Given the description of an element on the screen output the (x, y) to click on. 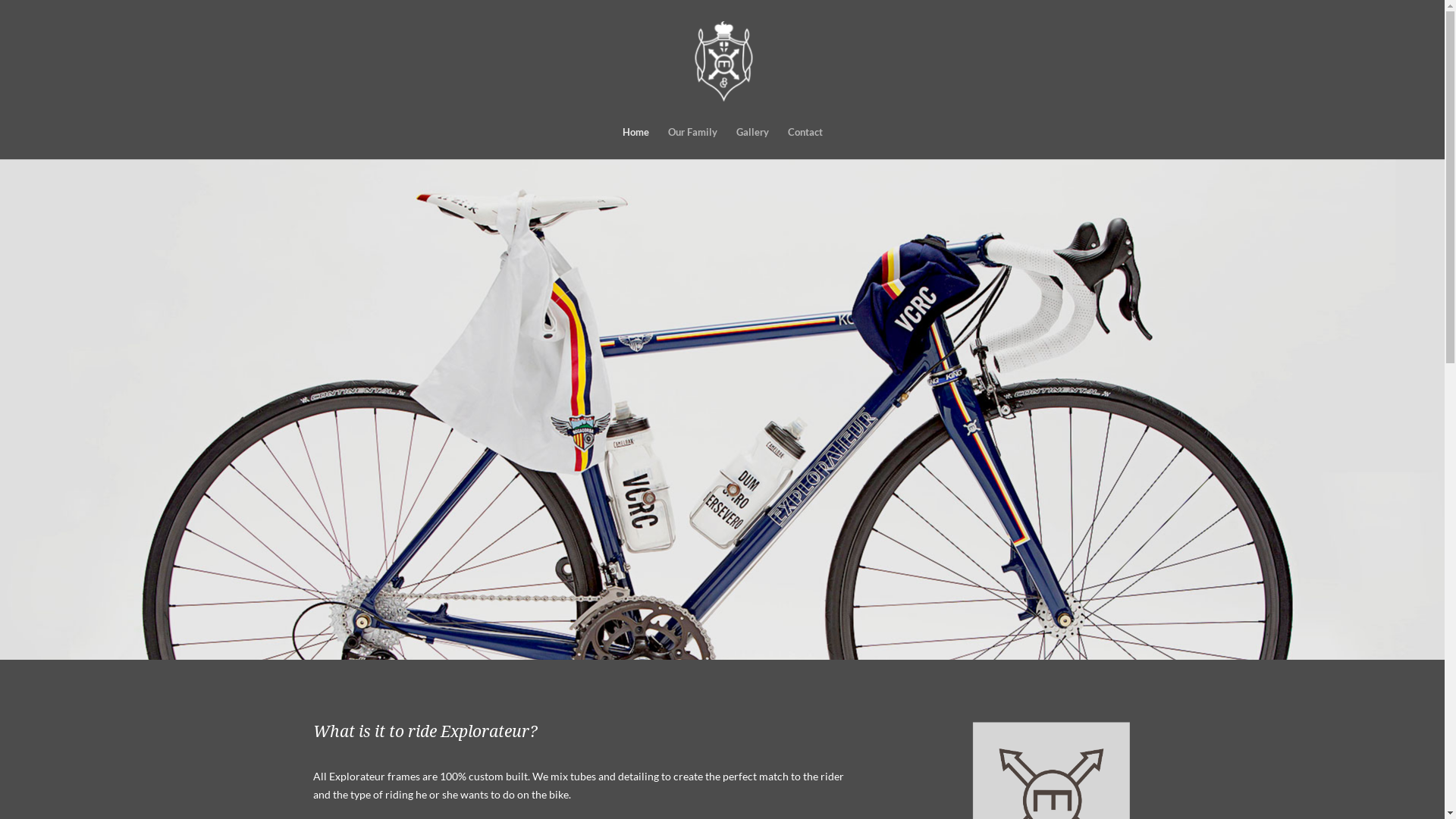
Our Family Element type: text (691, 142)
Home Element type: text (634, 142)
Gallery Element type: text (751, 142)
Contact Element type: text (804, 142)
